Given the description of an element on the screen output the (x, y) to click on. 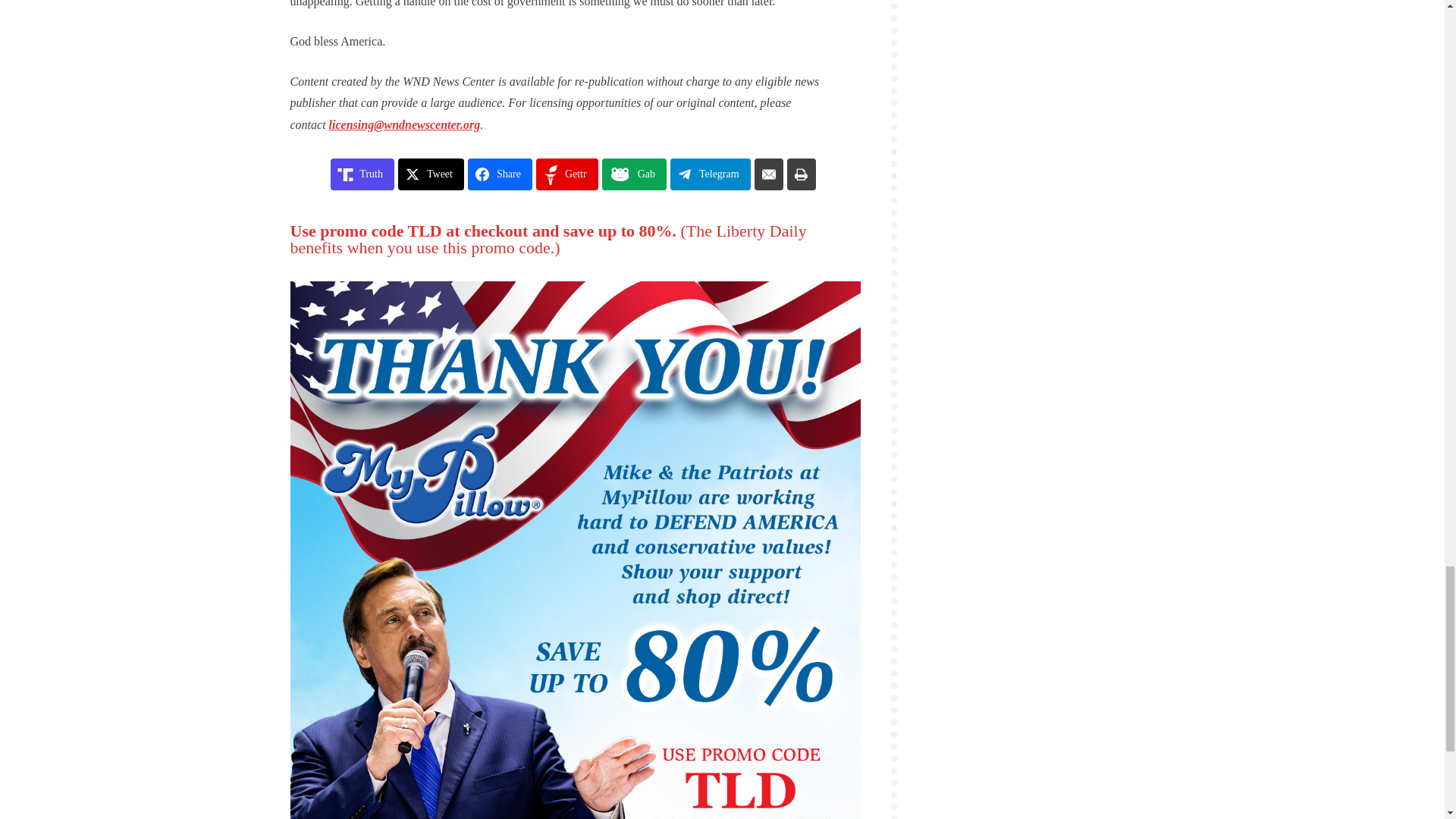
Share on Tweet (430, 174)
Telegram (710, 174)
Share on Gettr (566, 174)
Share on Telegram (710, 174)
Truth (362, 174)
Share on Truth (362, 174)
Gettr (566, 174)
Gab (634, 174)
Share on Share (499, 174)
Tweet (430, 174)
Share on Gab (634, 174)
Share (499, 174)
